Given the description of an element on the screen output the (x, y) to click on. 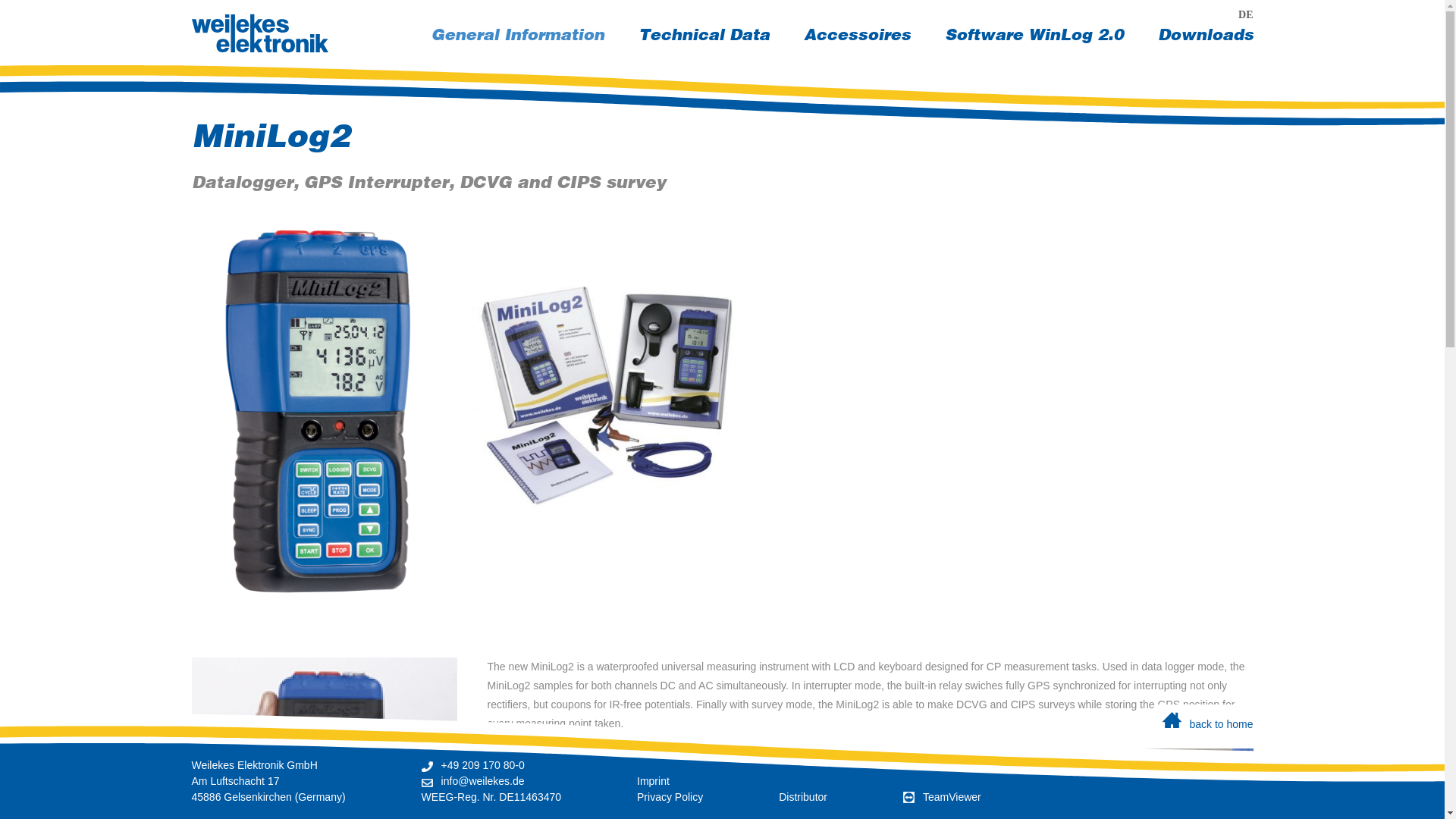
Distributor (721, 770)
General Information (802, 797)
TeamViewer (517, 35)
WEEG-Reg. Nr. DE11463470 (941, 797)
Technical Data (491, 797)
MiniLog2 (704, 35)
Privacy Policy (269, 138)
Downloads (670, 797)
Accessoires (1204, 35)
Software WinLog 2.0 (857, 35)
Imprint (1034, 35)
back to home (653, 780)
